Given the description of an element on the screen output the (x, y) to click on. 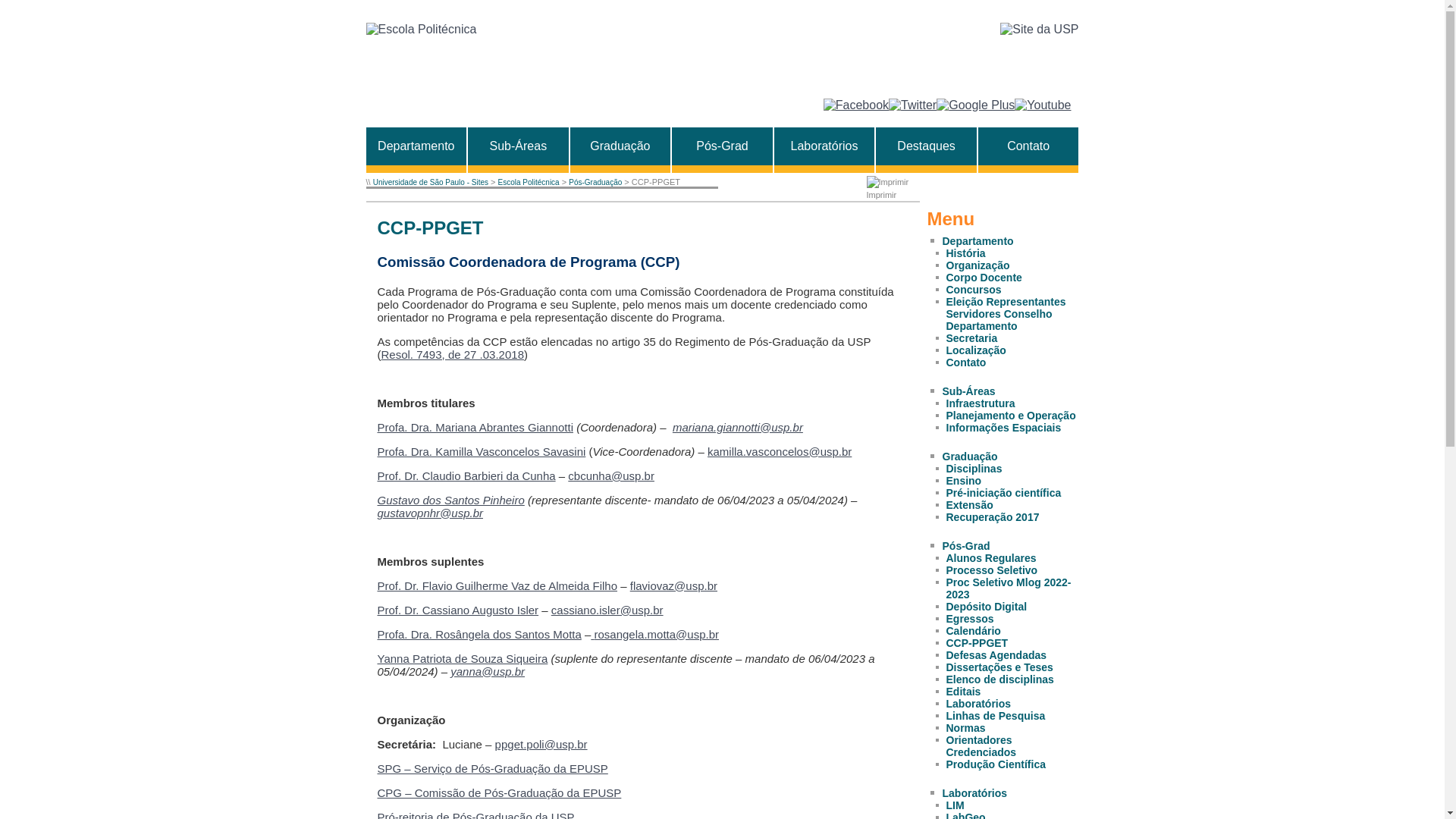
Yanna Patriota de Souza Siqueira Element type: text (462, 658)
ppget.poli@usp.br Element type: text (541, 743)
Proc Seletivo Mlog 2022-2023 Element type: text (1008, 588)
Orientadores Credenciados Element type: text (981, 746)
Alunos Regulares Element type: text (991, 558)
Youtube Element type: hover (1042, 105)
Normas Element type: text (965, 727)
mariana.giannotti@usp.br Element type: text (737, 426)
CCP-PPGET Element type: text (977, 643)
Disciplinas Element type: text (974, 468)
rosangela.motta@usp.br Element type: text (656, 633)
Gustavo dos Santos Pinheiro Element type: text (450, 499)
Linhas de Pesquisa Element type: text (995, 715)
Departamento Element type: text (977, 241)
Destaques Element type: text (925, 146)
Departamento Element type: text (415, 146)
Processo Seletivo Element type: text (992, 570)
cbcunha@usp.br Element type: text (610, 475)
Contato Element type: text (966, 362)
Contato Element type: text (1028, 146)
Egressos Element type: text (970, 618)
yanna@usp.br Element type: text (487, 671)
Secretaria Element type: text (971, 338)
Prof. Dr. Claudio Barbieri da Cunha Element type: text (466, 475)
Profa. Dra. Kamilla Vasconcelos Savasini Element type: text (481, 451)
cassiano.isler@usp.br Element type: text (607, 609)
Twitter Element type: hover (912, 105)
Prof. Dr. Cassiano Augusto Isler Element type: text (458, 609)
gustavopnhr@usp.br Element type: text (430, 512)
Google Plus Element type: hover (975, 105)
Corpo Docente Element type: text (984, 277)
Resol. 7493, de 27 .03.2018 Element type: text (451, 354)
Profa. Dra. Mariana Abrantes Giannotti Element type: text (475, 426)
Imprimir Element type: text (889, 187)
Ensino Element type: text (964, 480)
Editais Element type: text (963, 691)
Site da USP Element type: hover (1039, 29)
LIM Element type: text (955, 805)
Elenco de disciplinas Element type: text (1000, 679)
Facebook Element type: hover (855, 105)
kamilla.vasconcelos@usp.br Element type: text (779, 451)
Prof. Dr. Flavio Guilherme Vaz de Almeida Filho Element type: text (497, 585)
Concursos Element type: text (973, 289)
Infraestrutura Element type: text (980, 403)
flaviovaz@usp.br Element type: text (673, 585)
Defesas Agendadas Element type: text (996, 655)
